Given the description of an element on the screen output the (x, y) to click on. 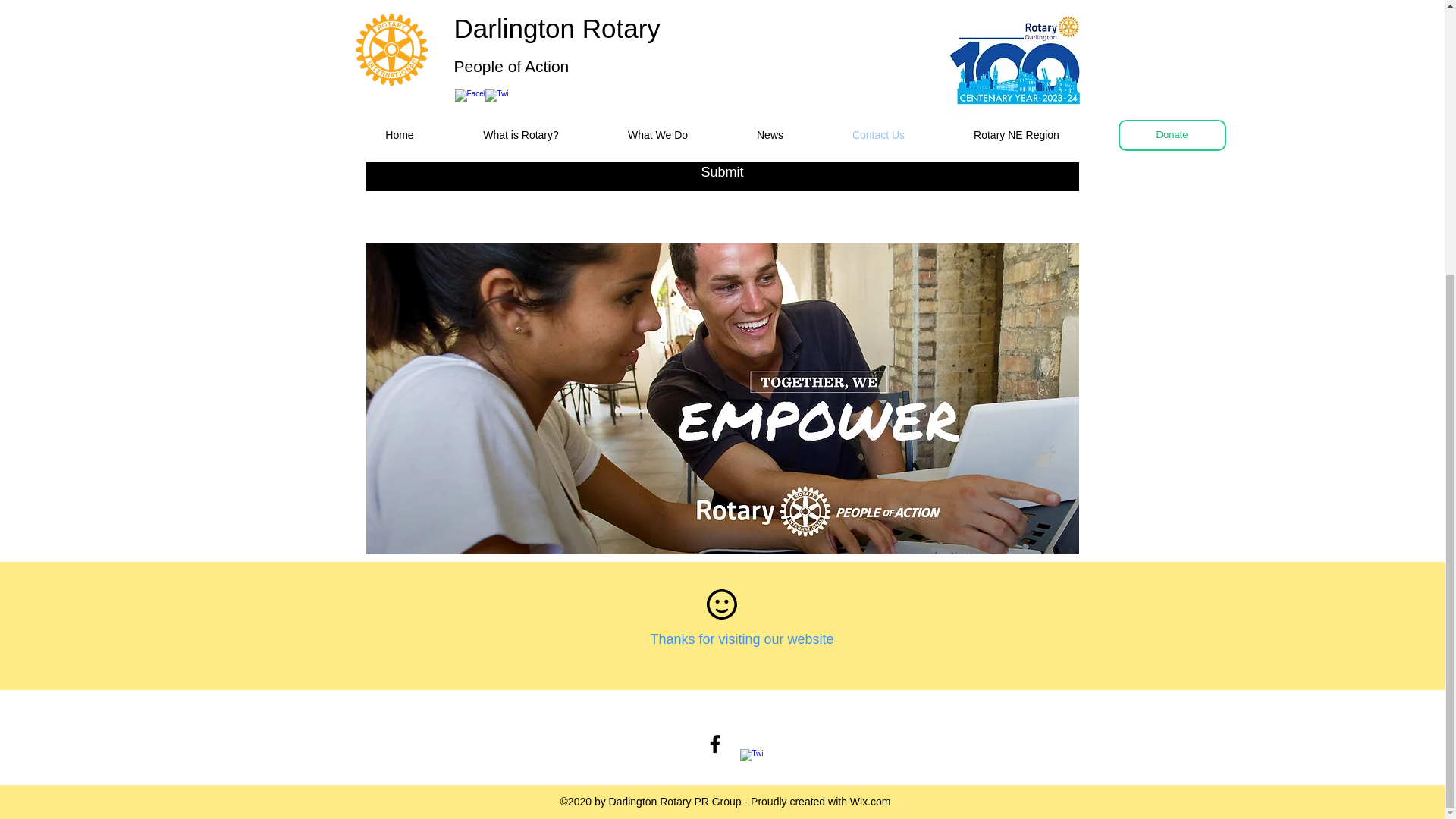
Submit (721, 171)
